Given the description of an element on the screen output the (x, y) to click on. 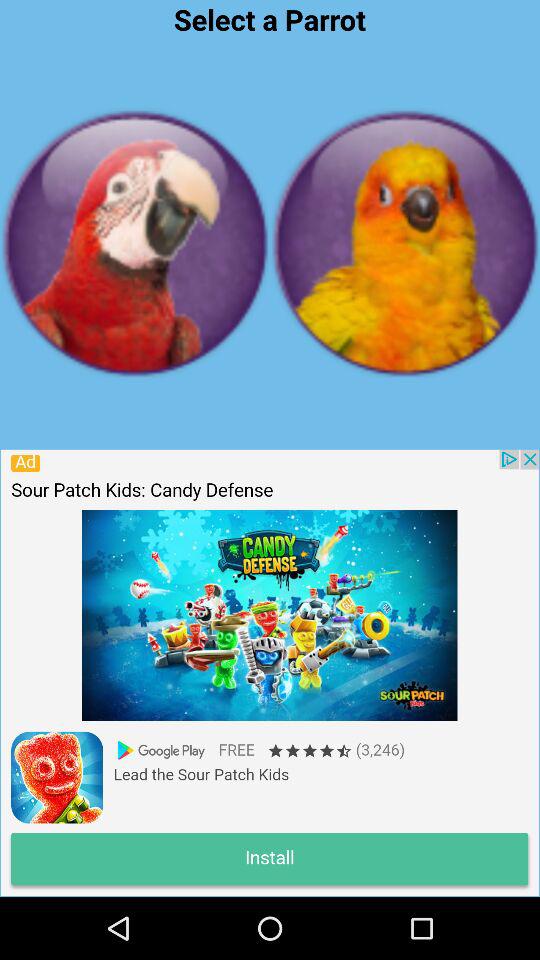
select the bird (405, 243)
